Given the description of an element on the screen output the (x, y) to click on. 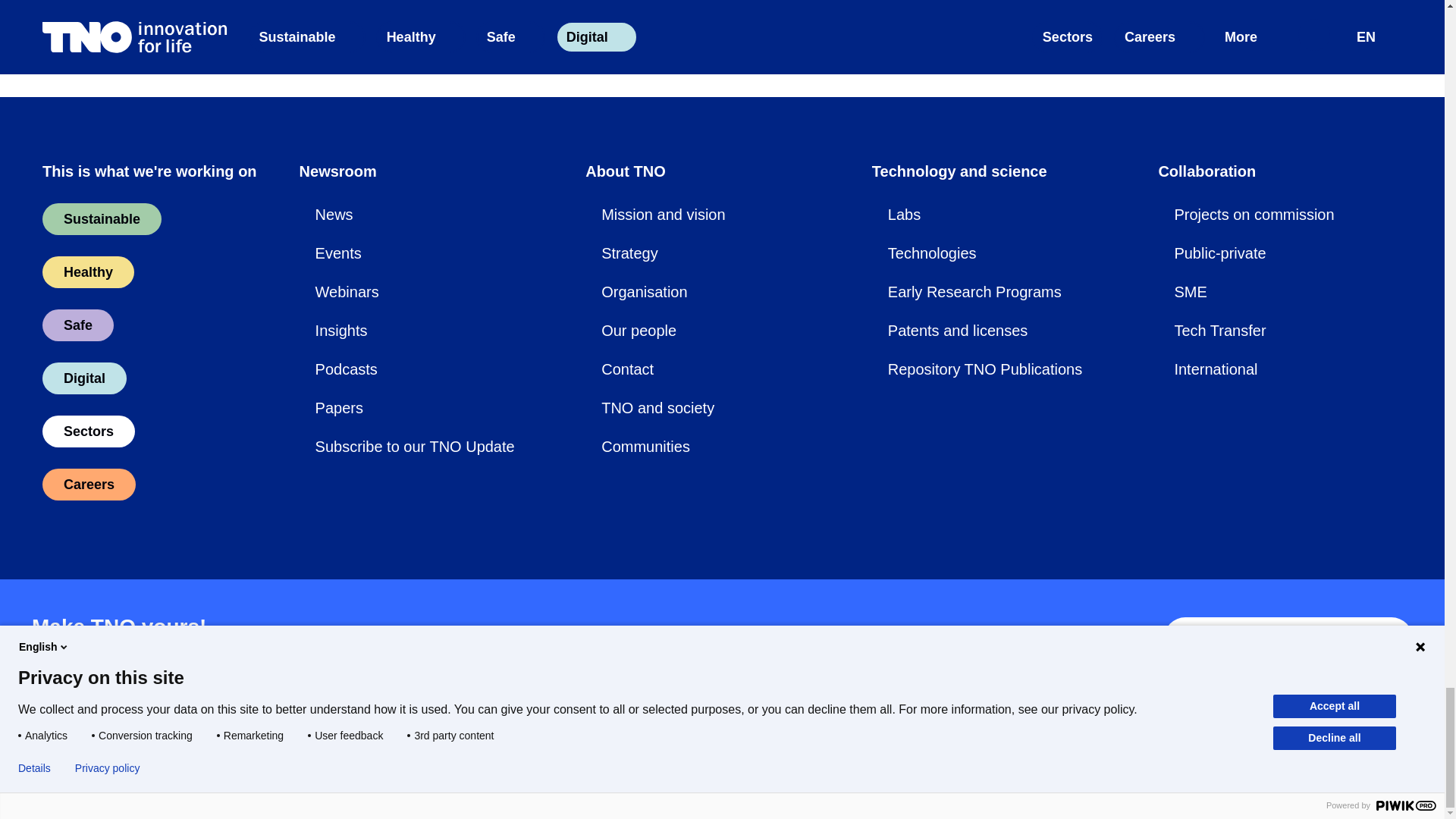
English (1138, 758)
